Given the description of an element on the screen output the (x, y) to click on. 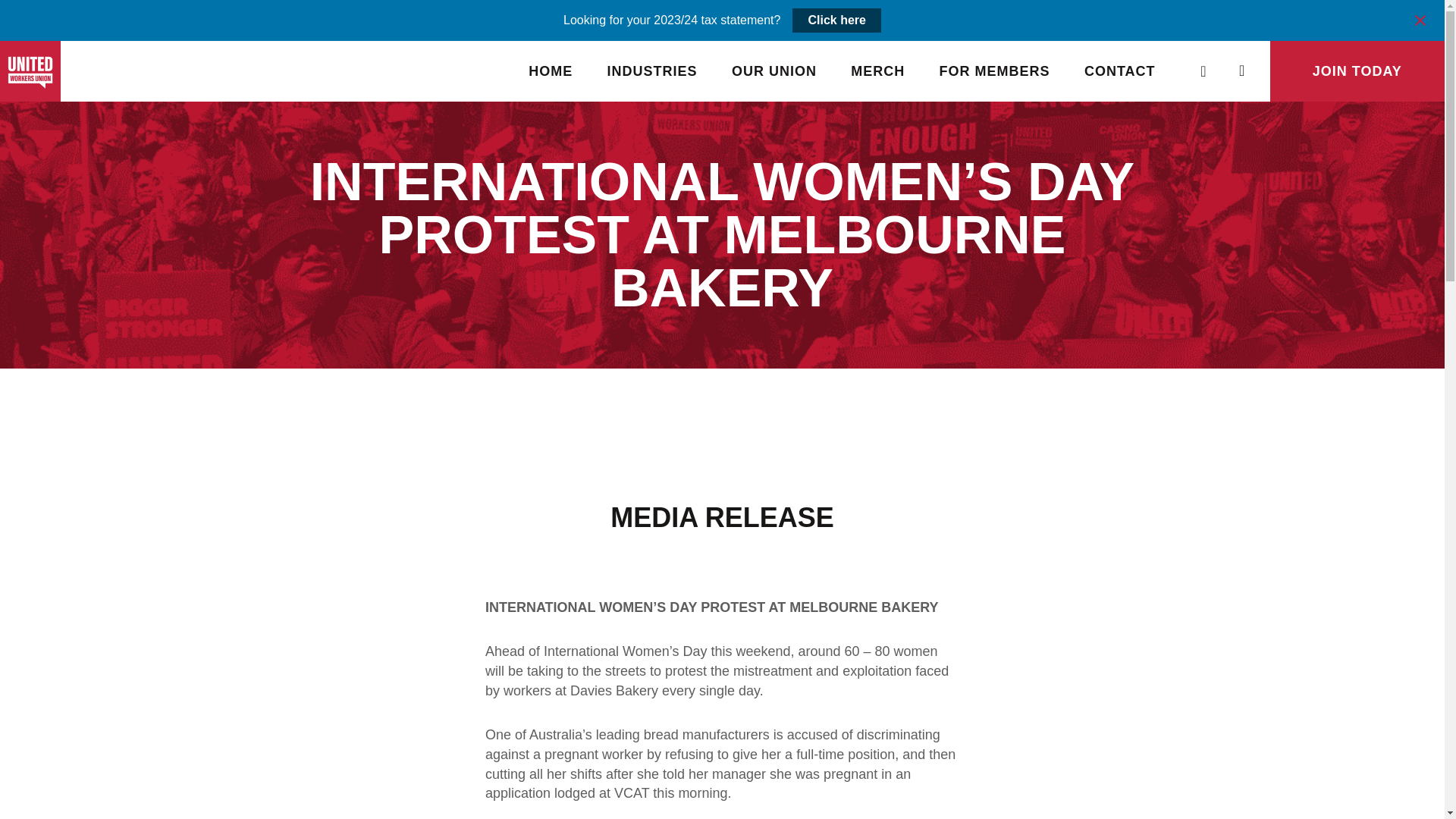
OUR UNION (773, 71)
Click here (836, 20)
INDUSTRIES (651, 71)
Page 1 (721, 708)
HOME (550, 71)
